Given the description of an element on the screen output the (x, y) to click on. 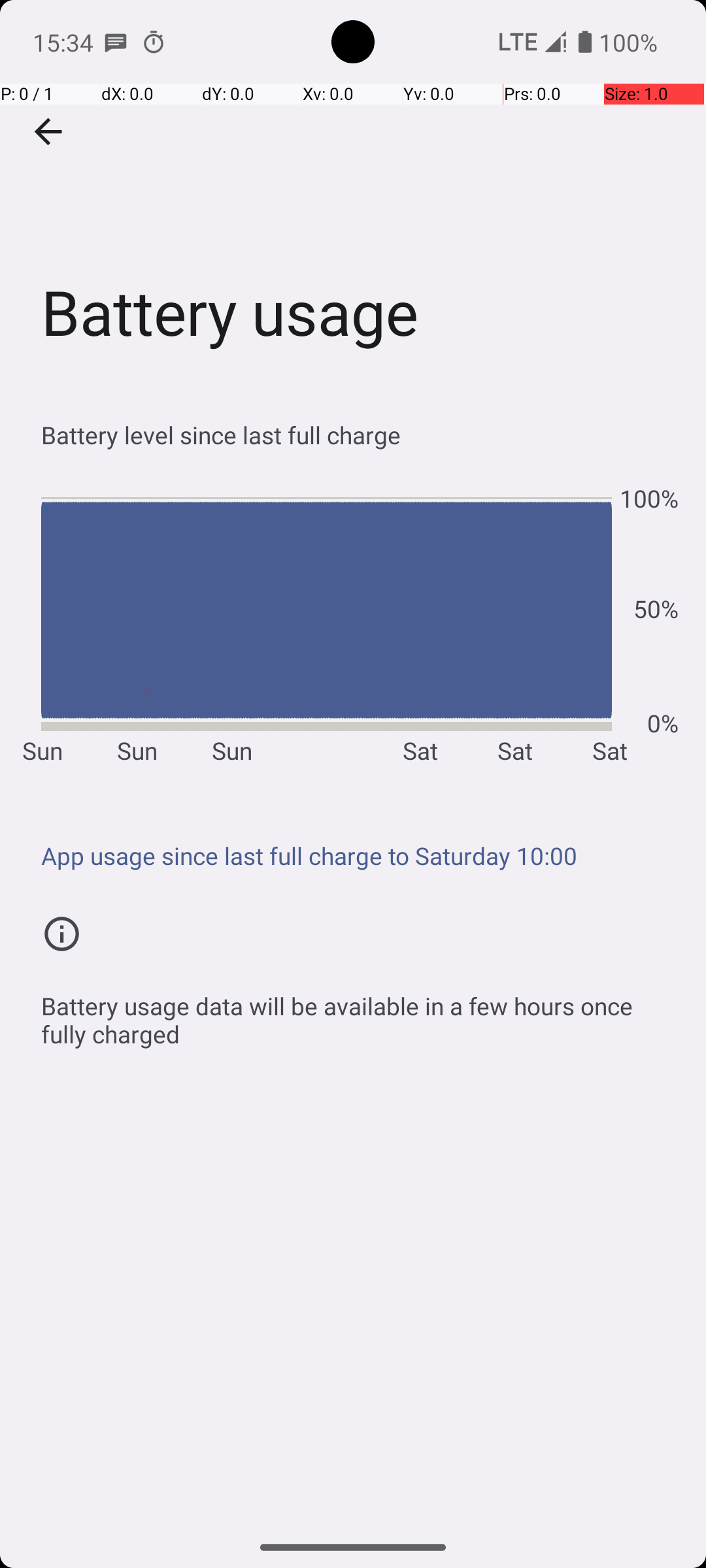
Battery level since last full charge Element type: android.widget.TextView (359, 434)
App usage since last full charge to Saturday 10:00 Element type: android.widget.TextView (359, 855)
Battery usage data will be available in a few hours once fully charged Element type: android.widget.TextView (359, 1012)
